Given the description of an element on the screen output the (x, y) to click on. 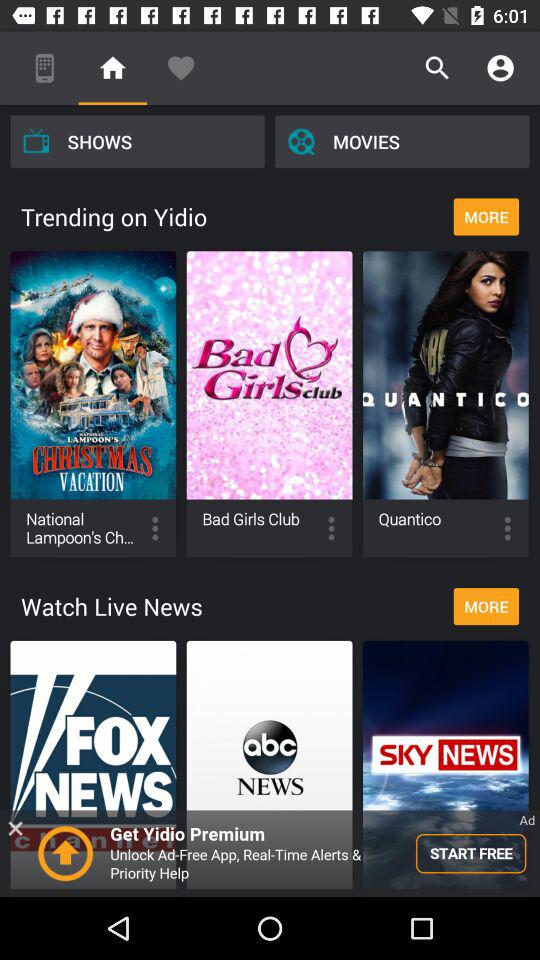
turn on item below more (270, 853)
